Given the description of an element on the screen output the (x, y) to click on. 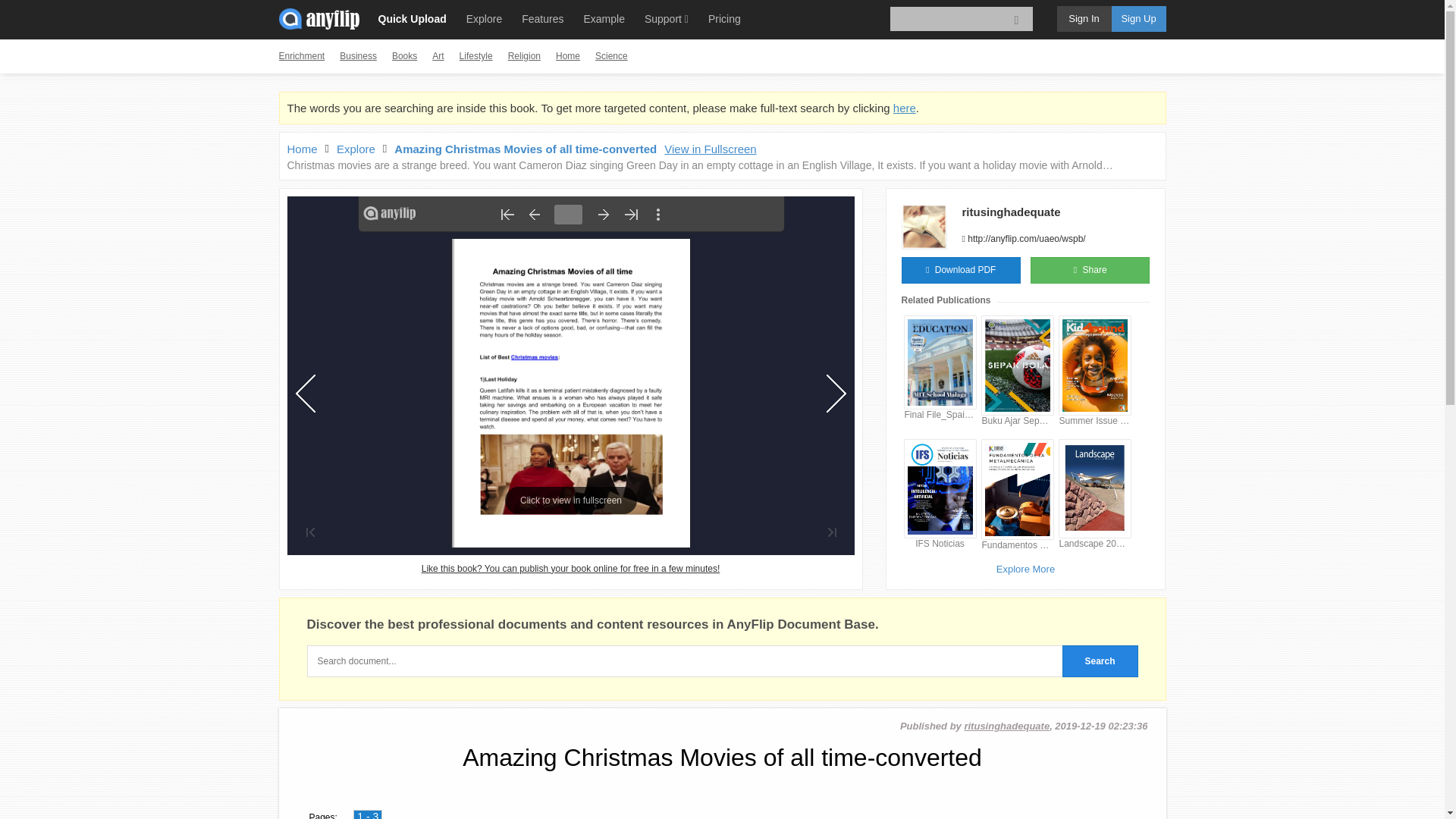
Example (603, 18)
Books (403, 55)
Art (438, 55)
Features (541, 18)
Religion (524, 55)
Visit its homepage (1009, 211)
Lifestyle (476, 55)
Buku Ajar Sepak Bola Kelas 8 (1016, 420)
Explore (483, 18)
Download PDF file of this flipbook (960, 270)
